Given the description of an element on the screen output the (x, y) to click on. 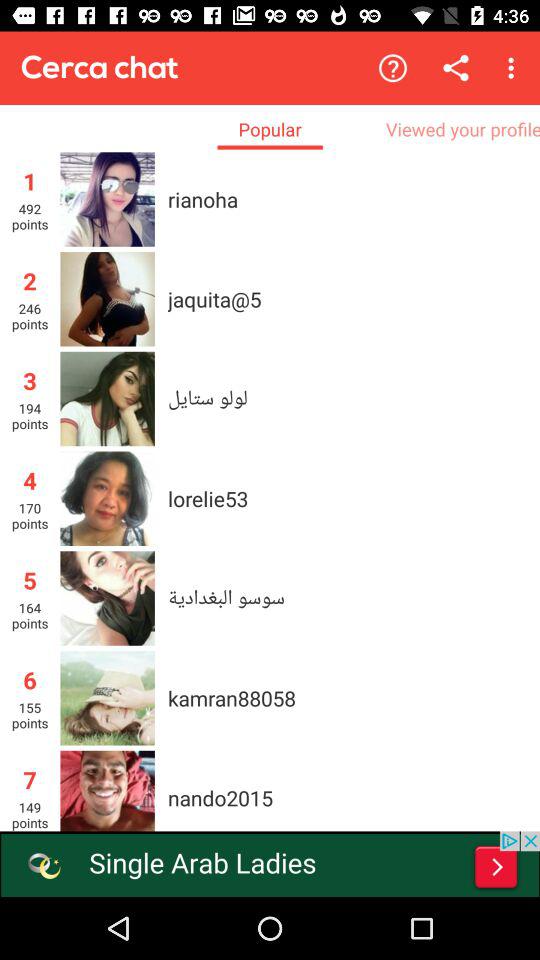
advertisement (270, 864)
